Given the description of an element on the screen output the (x, y) to click on. 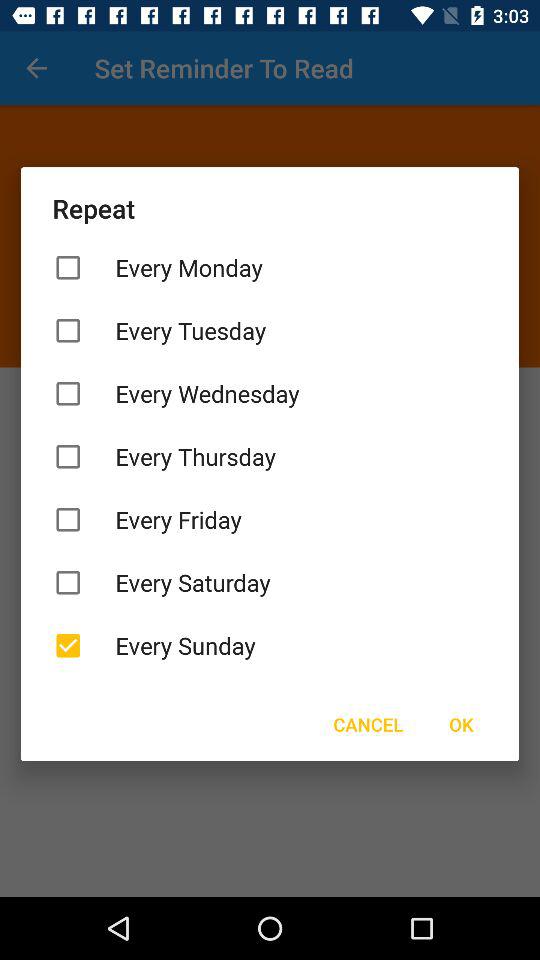
open item below the every friday icon (270, 582)
